Given the description of an element on the screen output the (x, y) to click on. 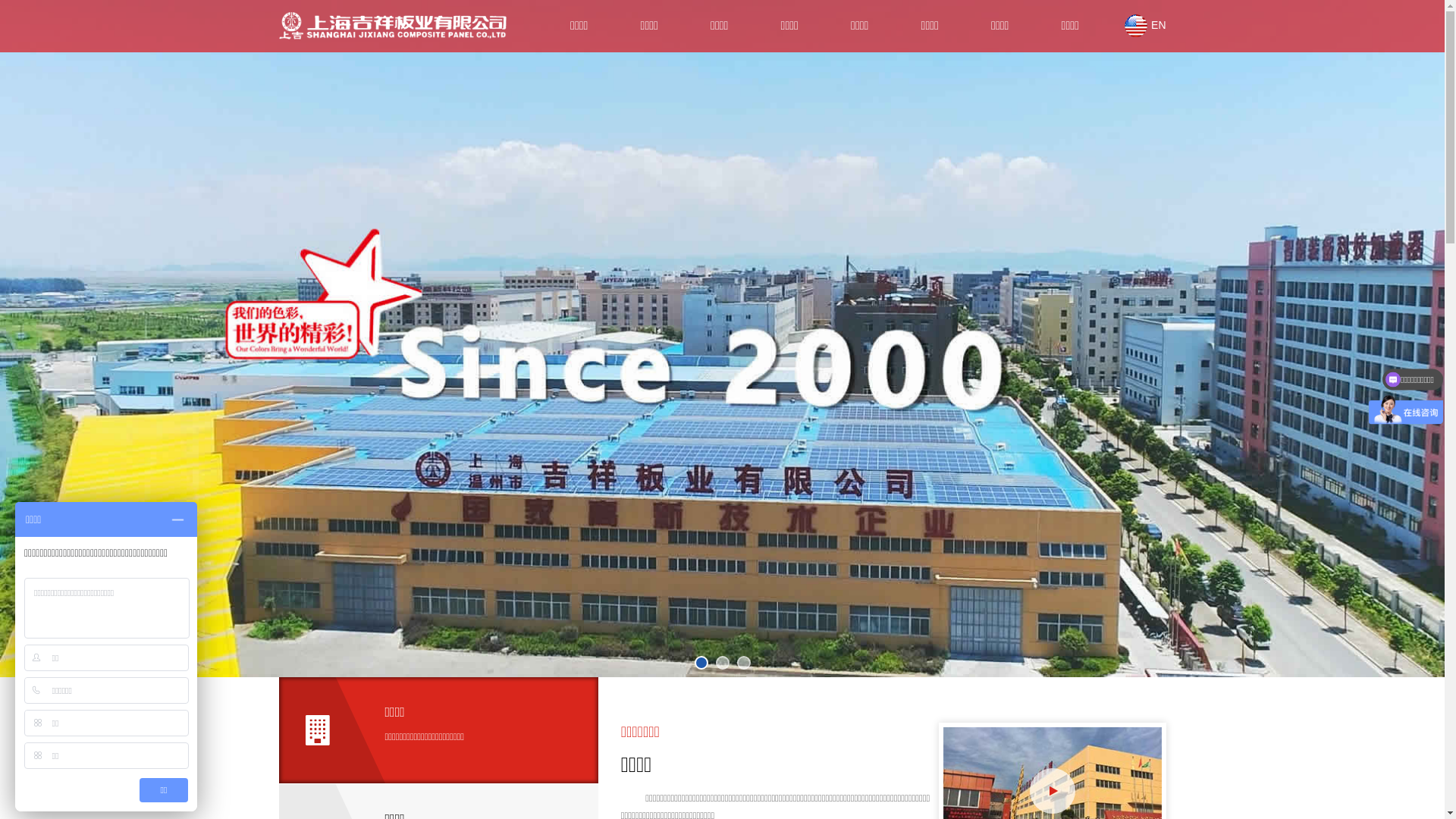
EN Element type: text (1144, 24)
